Given the description of an element on the screen output the (x, y) to click on. 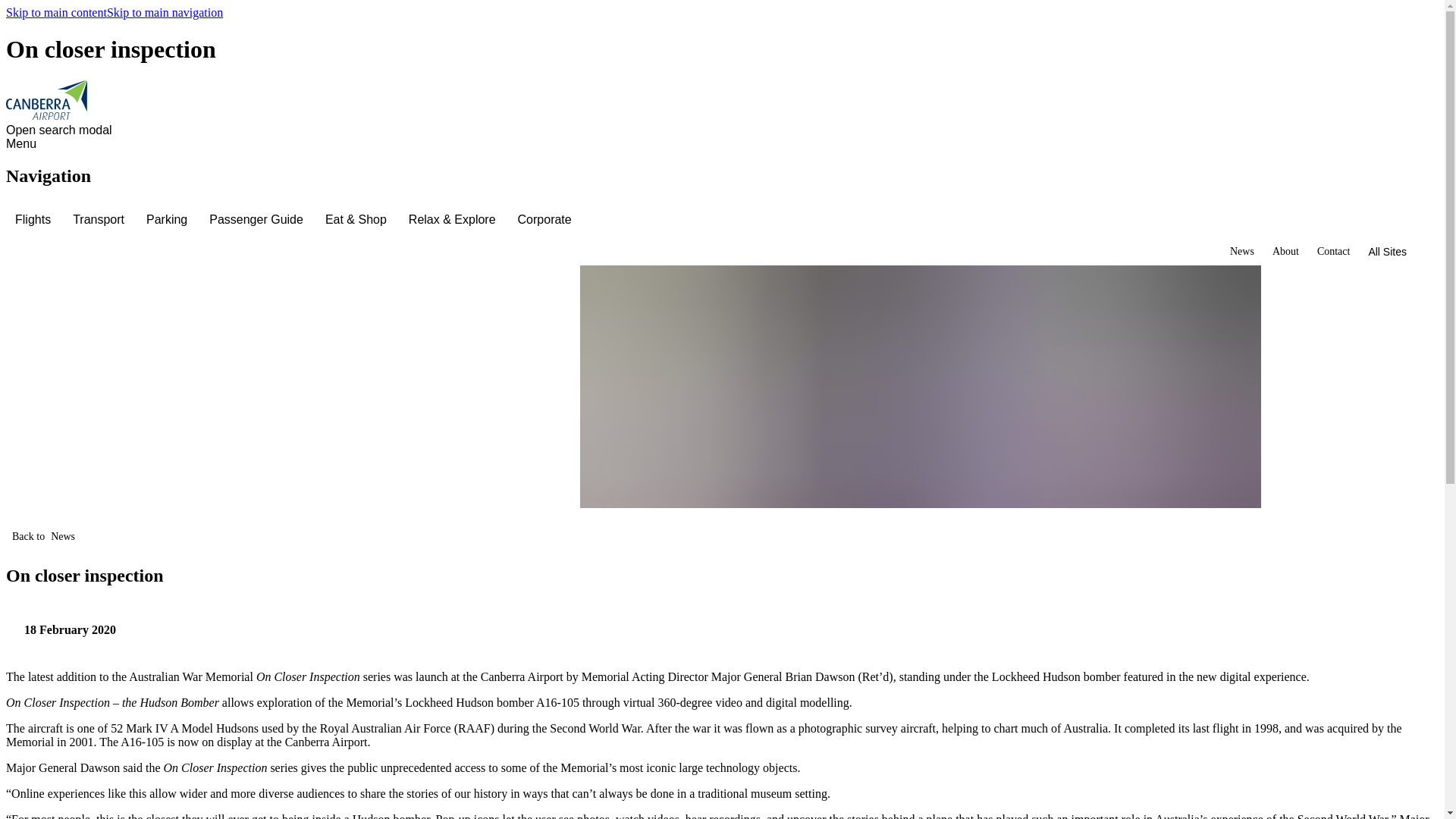
Skip to main content (55, 11)
Parking (168, 219)
Passenger Guide (258, 219)
Flights (34, 219)
Open search modal (61, 130)
Menu (23, 143)
Skip to main navigation (164, 11)
Transport (100, 219)
